Given the description of an element on the screen output the (x, y) to click on. 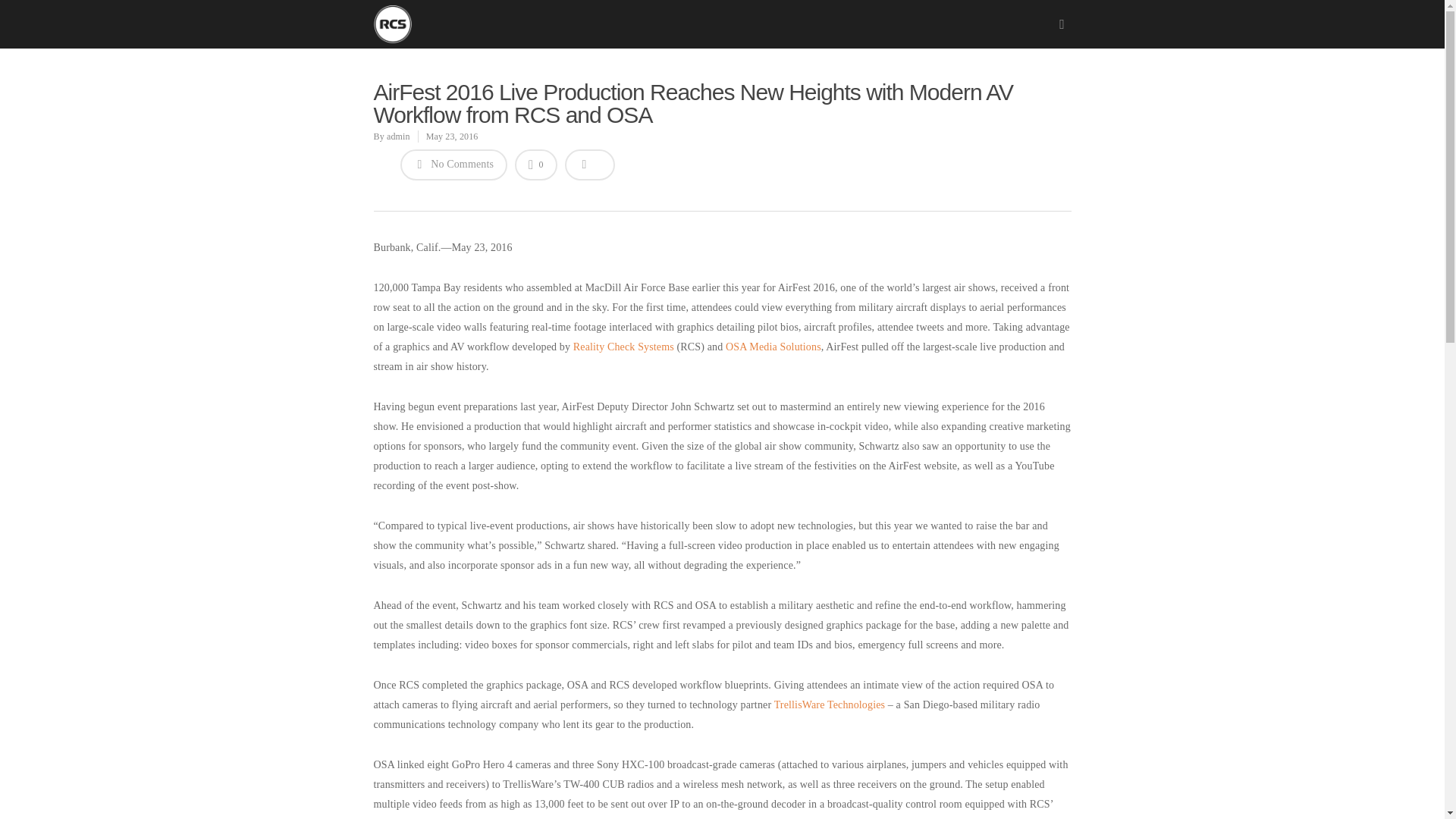
0 (536, 164)
Posts by admin (398, 136)
Reality Check Systems (623, 346)
Love this (536, 164)
OSA Media Solutions (773, 346)
admin (398, 136)
TrellisWare Technologies (829, 704)
No Comments (454, 164)
